Given the description of an element on the screen output the (x, y) to click on. 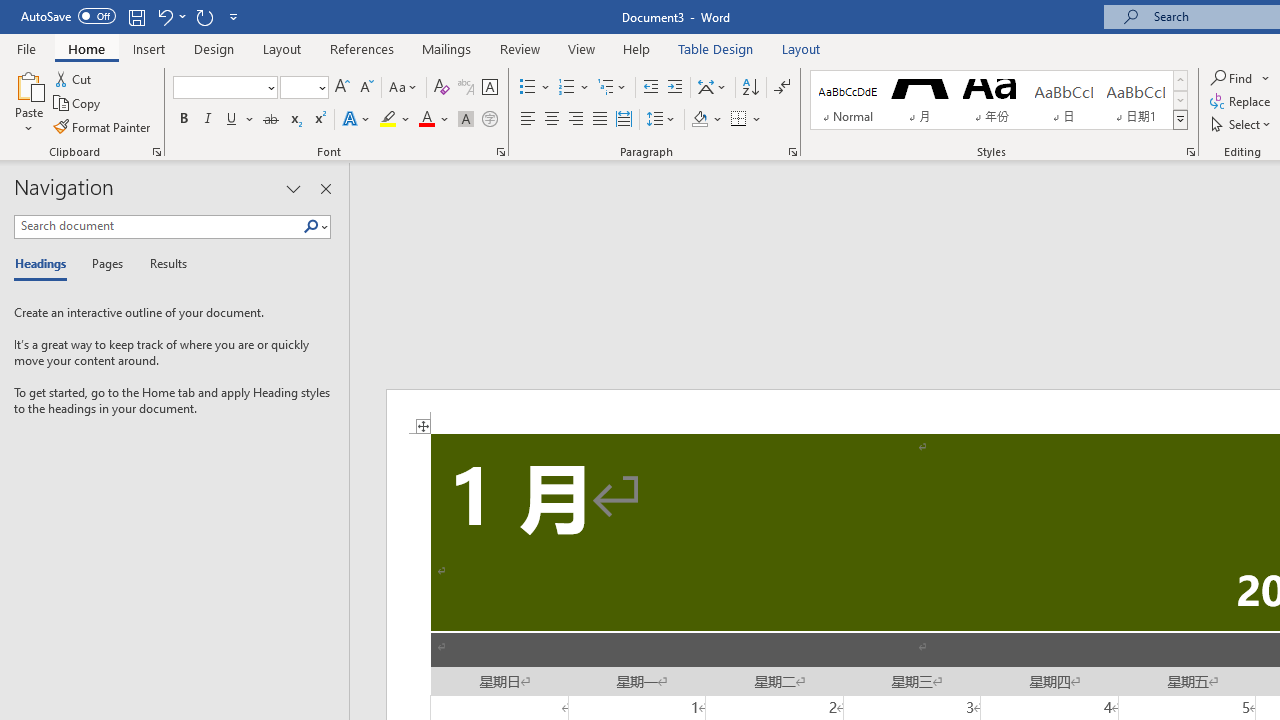
Find (1233, 78)
Shading (706, 119)
System (10, 11)
Quick Access Toolbar (131, 16)
Shrink Font (365, 87)
Text Highlight Color (395, 119)
Task Pane Options (293, 188)
Line and Paragraph Spacing (661, 119)
Copy (78, 103)
Select (1242, 124)
Bullets (535, 87)
Distributed (623, 119)
